Given the description of an element on the screen output the (x, y) to click on. 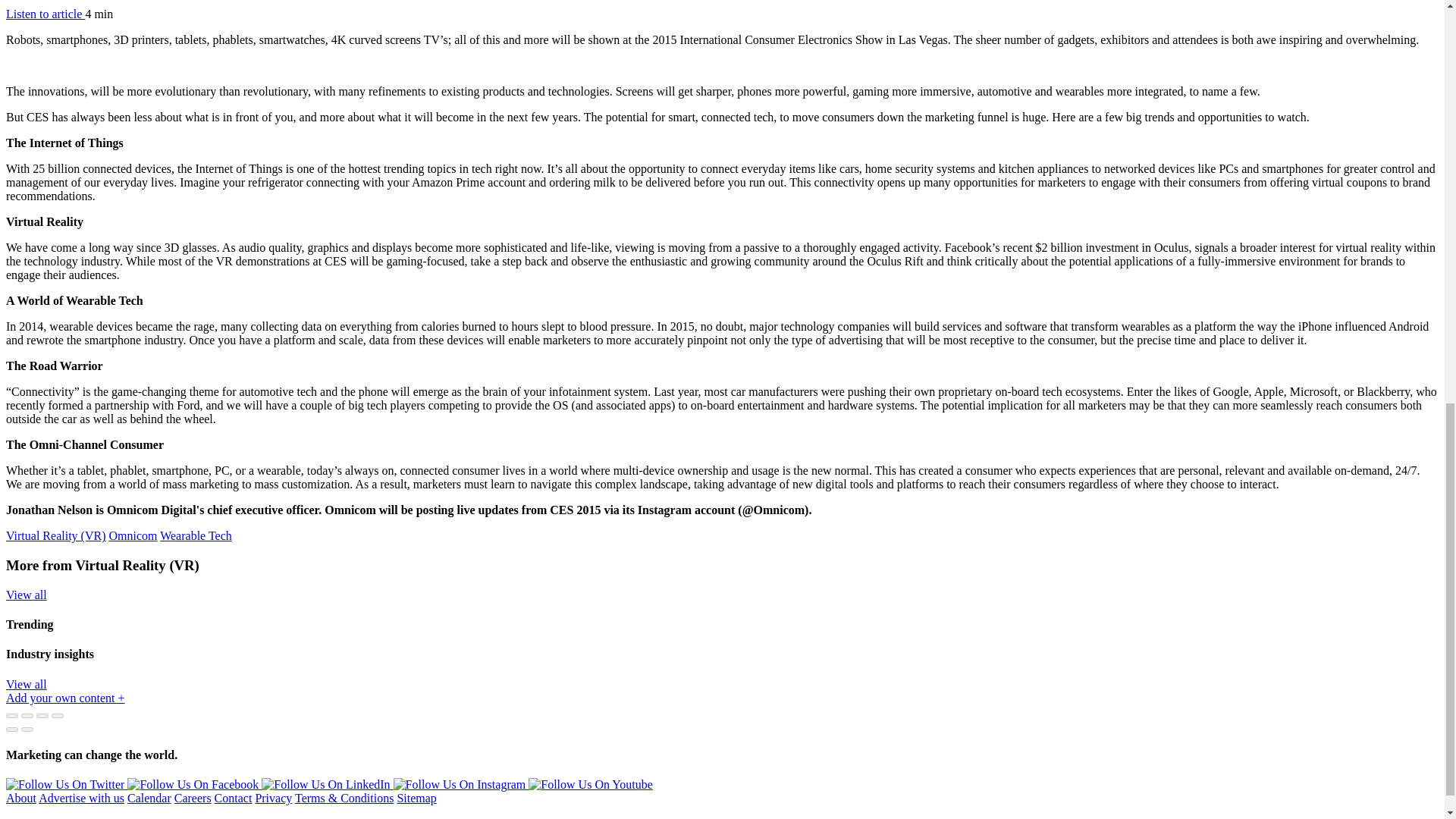
Listen to article (44, 13)
About (20, 797)
Careers (192, 797)
Calendar (149, 797)
View all (25, 594)
Toggle fullscreen (42, 715)
Privacy (273, 797)
Omnicom (132, 535)
View all (25, 684)
Share (27, 715)
